Given the description of an element on the screen output the (x, y) to click on. 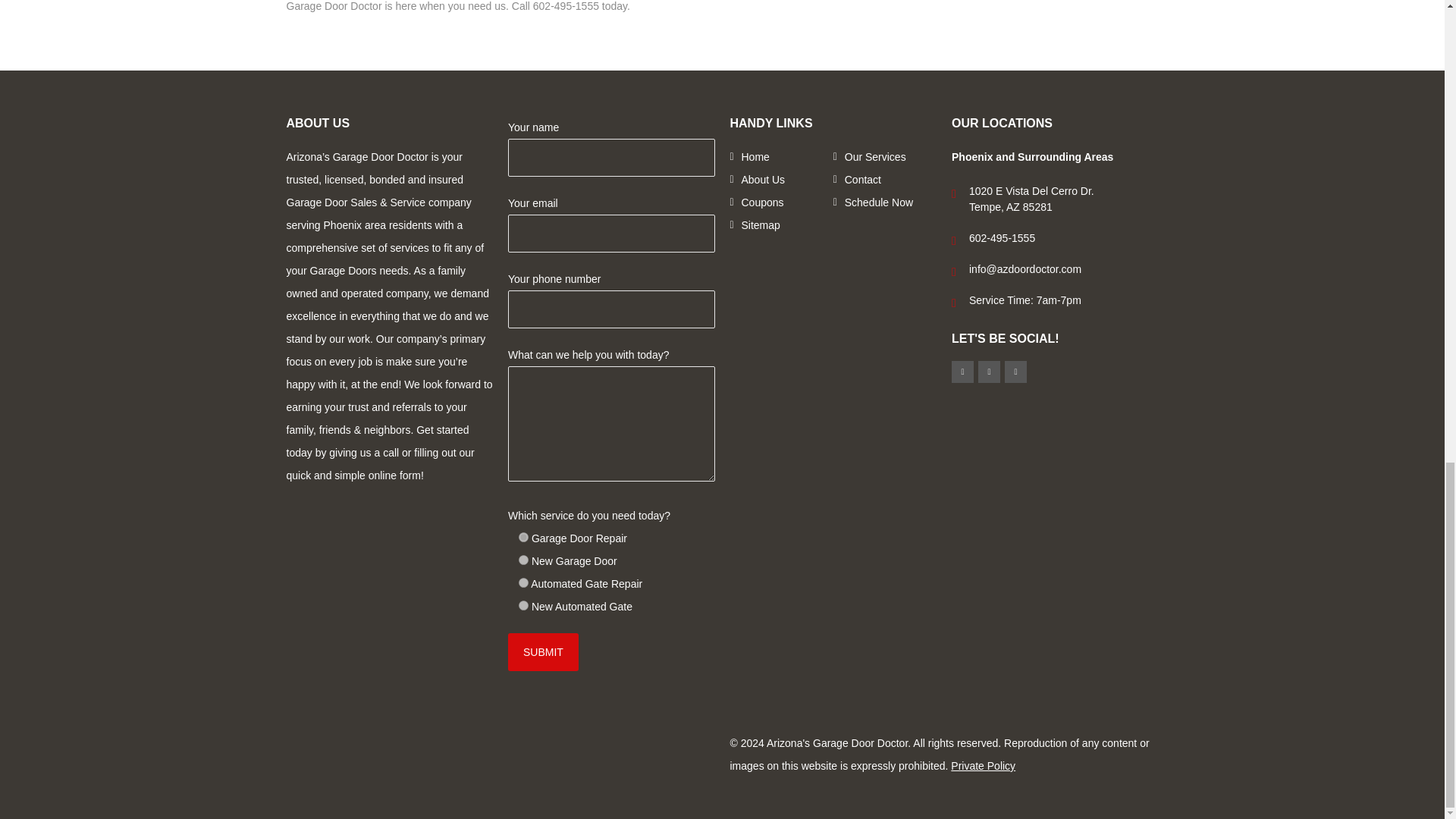
Home (755, 156)
Schedule Now (878, 201)
Twitter (1015, 372)
Sitemap (760, 224)
YouTube (989, 372)
Automated Gate Repair (523, 583)
Our Services (874, 156)
Contact (862, 179)
About Us (763, 179)
Facebook (963, 372)
